Given the description of an element on the screen output the (x, y) to click on. 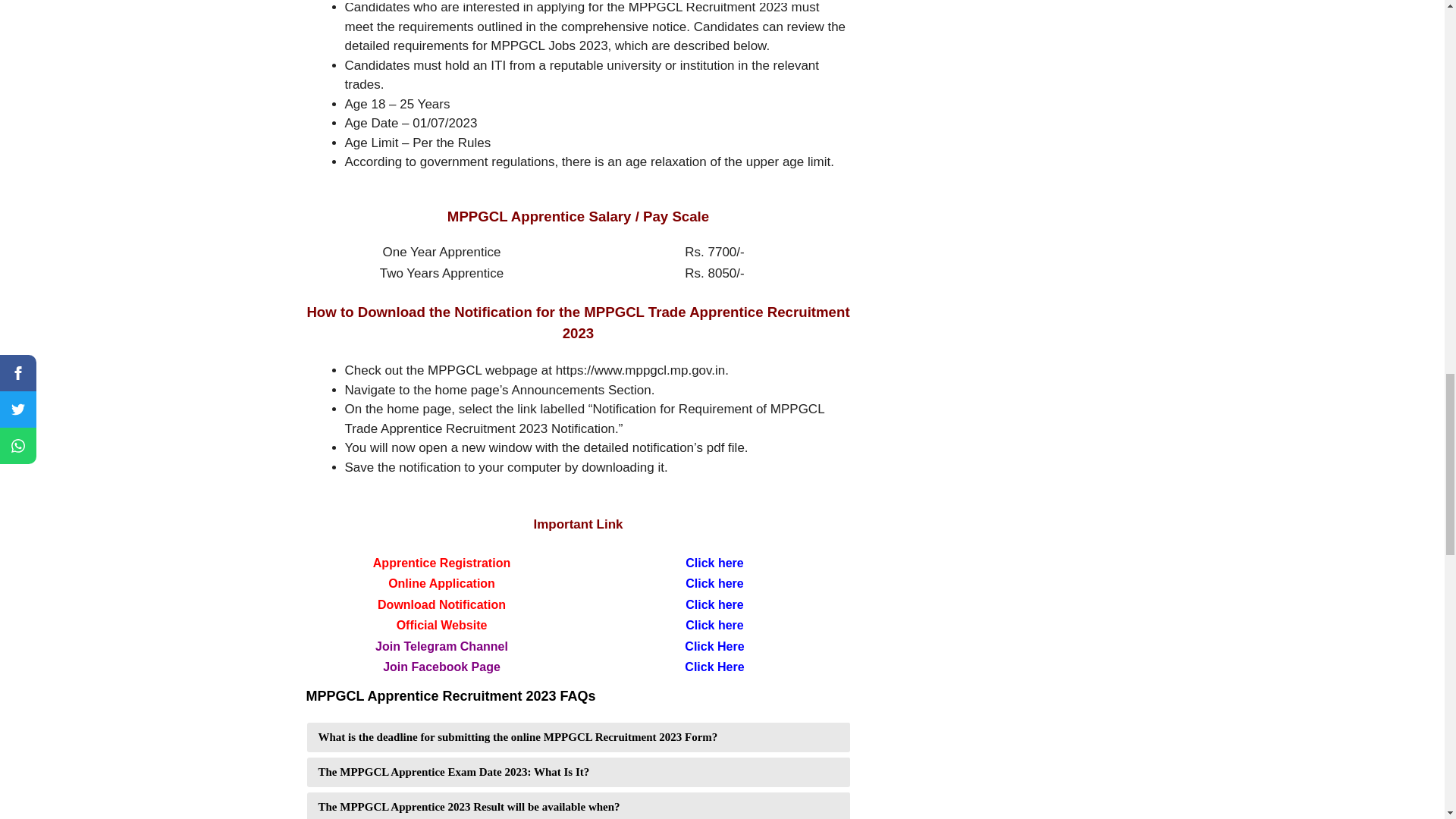
Click here (713, 625)
Click here (713, 604)
The MPPGCL Apprentice 2023 Result will be available when? (576, 805)
Click Here (714, 645)
Click Here (714, 666)
Click here (713, 562)
Click here (713, 583)
The MPPGCL Apprentice Exam Date 2023: What Is It? (576, 771)
